Given the description of an element on the screen output the (x, y) to click on. 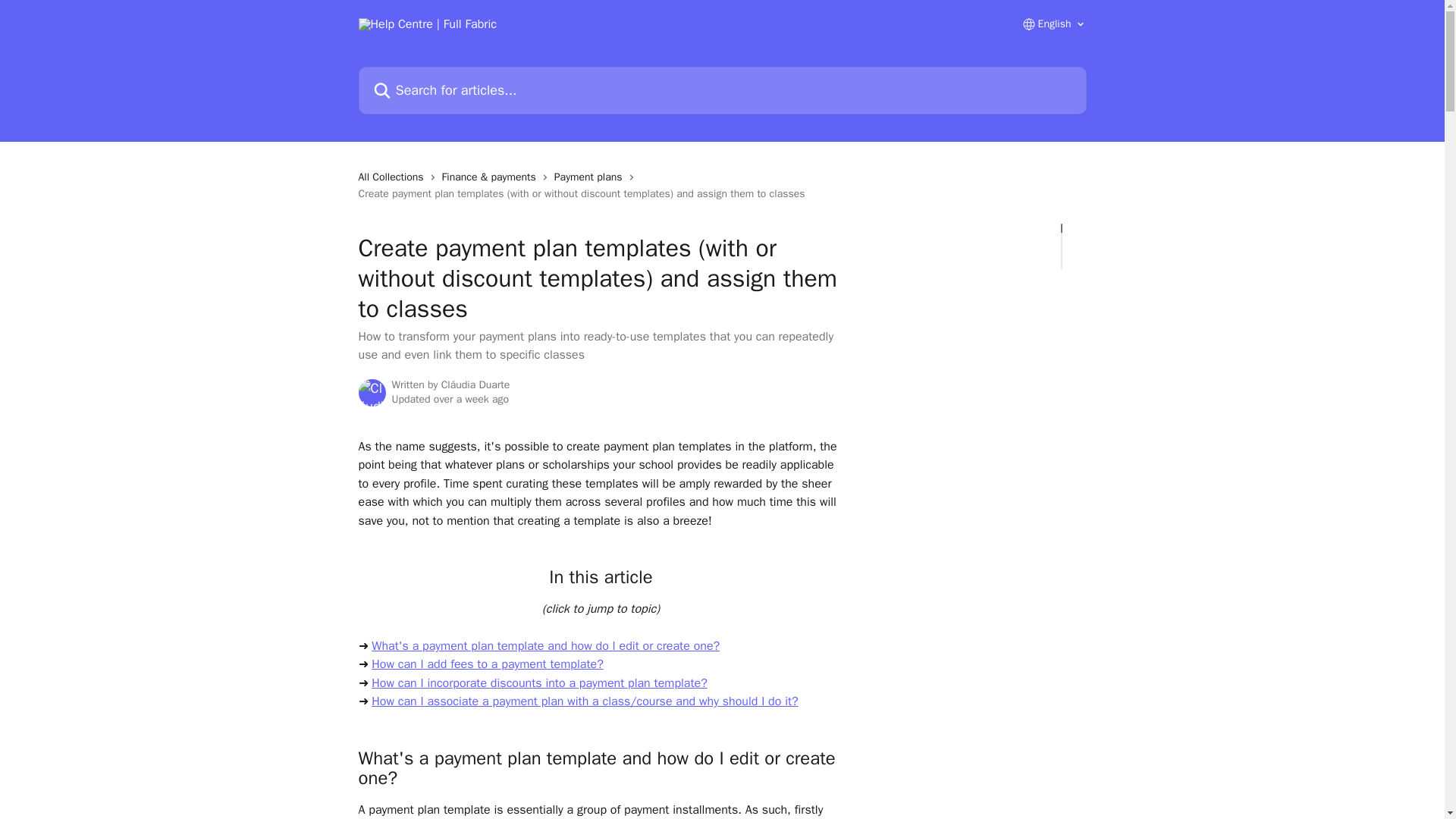
All Collections (393, 176)
Payment plans (591, 176)
How can I add fees to a payment template? (486, 663)
